Given the description of an element on the screen output the (x, y) to click on. 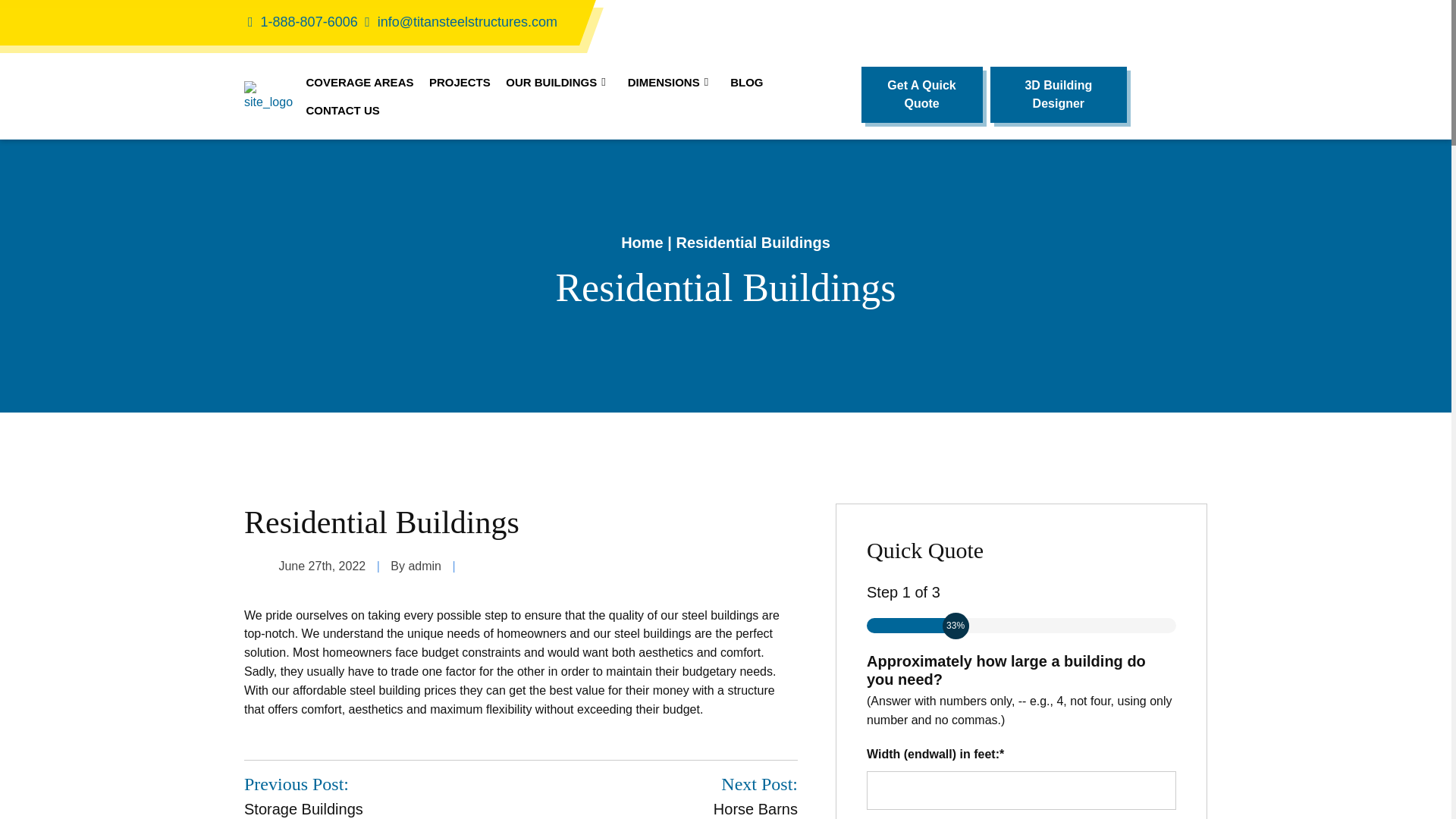
Storage Buildings (303, 795)
OUR BUILDINGS (558, 81)
PROJECTS (459, 81)
1-888-807-6006 (301, 21)
Horse Barns (755, 795)
Go to Titan Steel Structures. (642, 242)
DIMENSIONS (670, 81)
COVERAGE AREAS (359, 81)
